Given the description of an element on the screen output the (x, y) to click on. 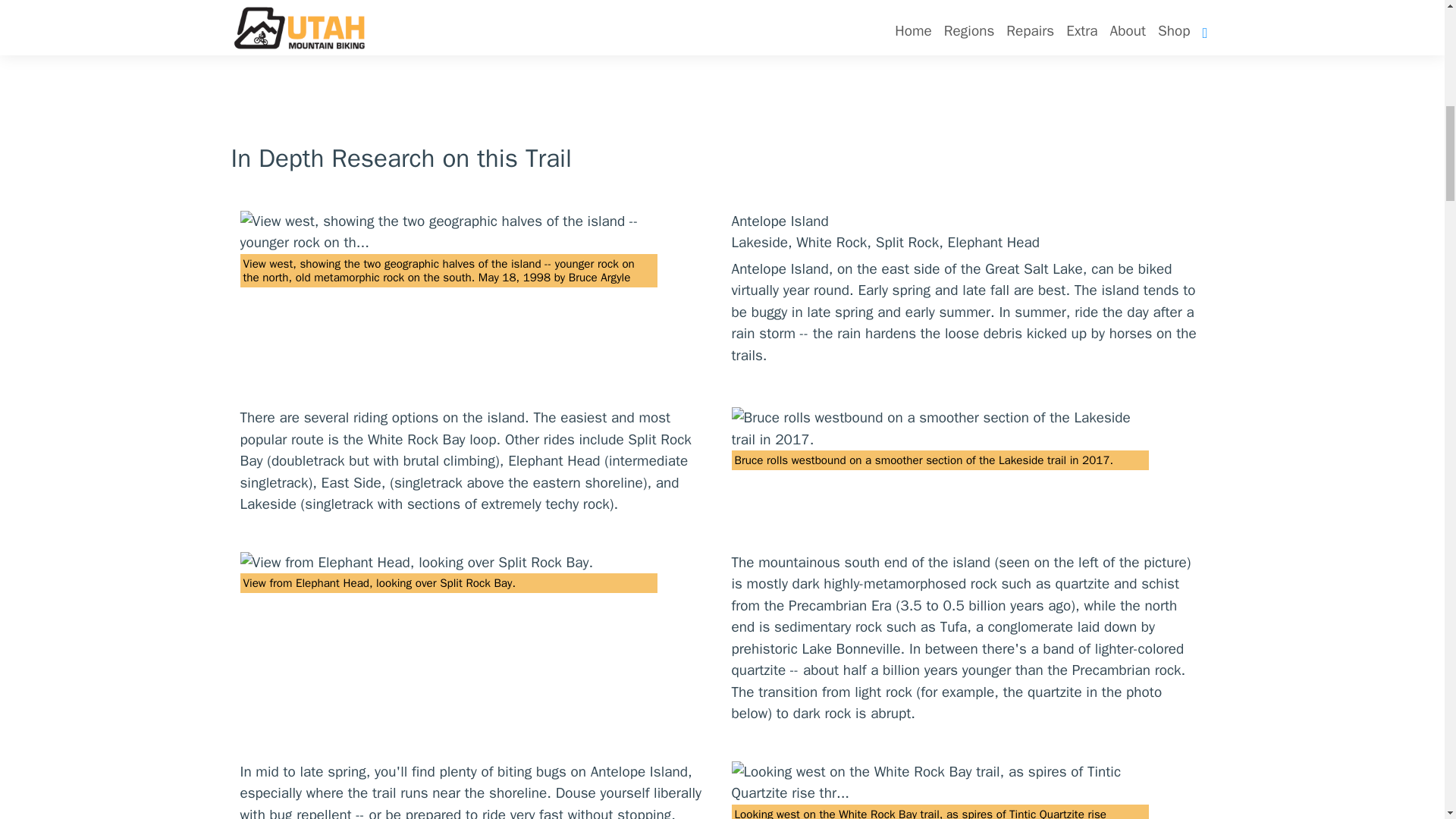
View from Elephant Head, looking over Split Rock Bay. (448, 563)
